Given the description of an element on the screen output the (x, y) to click on. 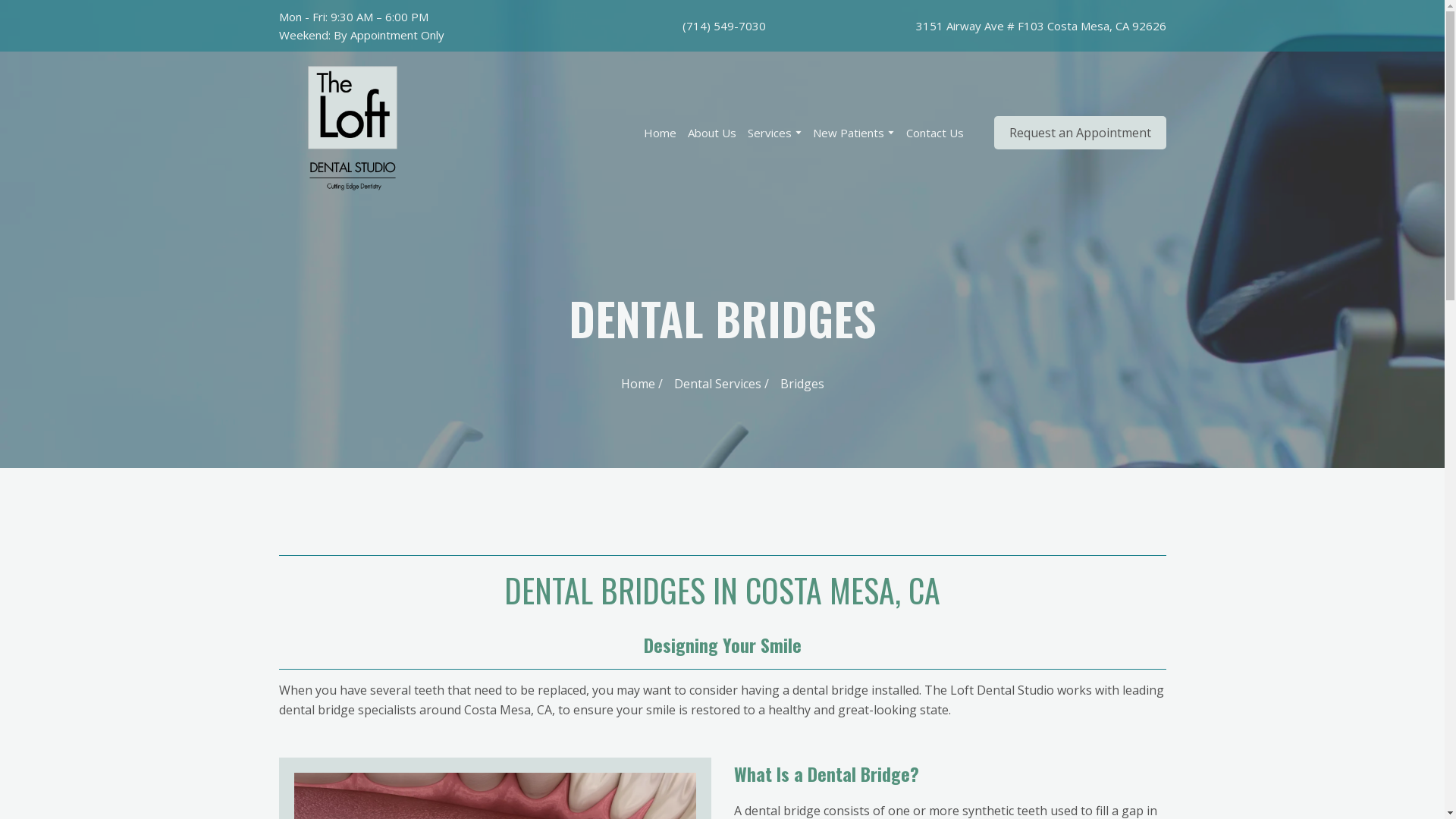
New Patients (847, 132)
Request an Appointment (1079, 132)
About Us (711, 132)
Home (660, 132)
Services (770, 132)
Contact Us (933, 132)
